Given the description of an element on the screen output the (x, y) to click on. 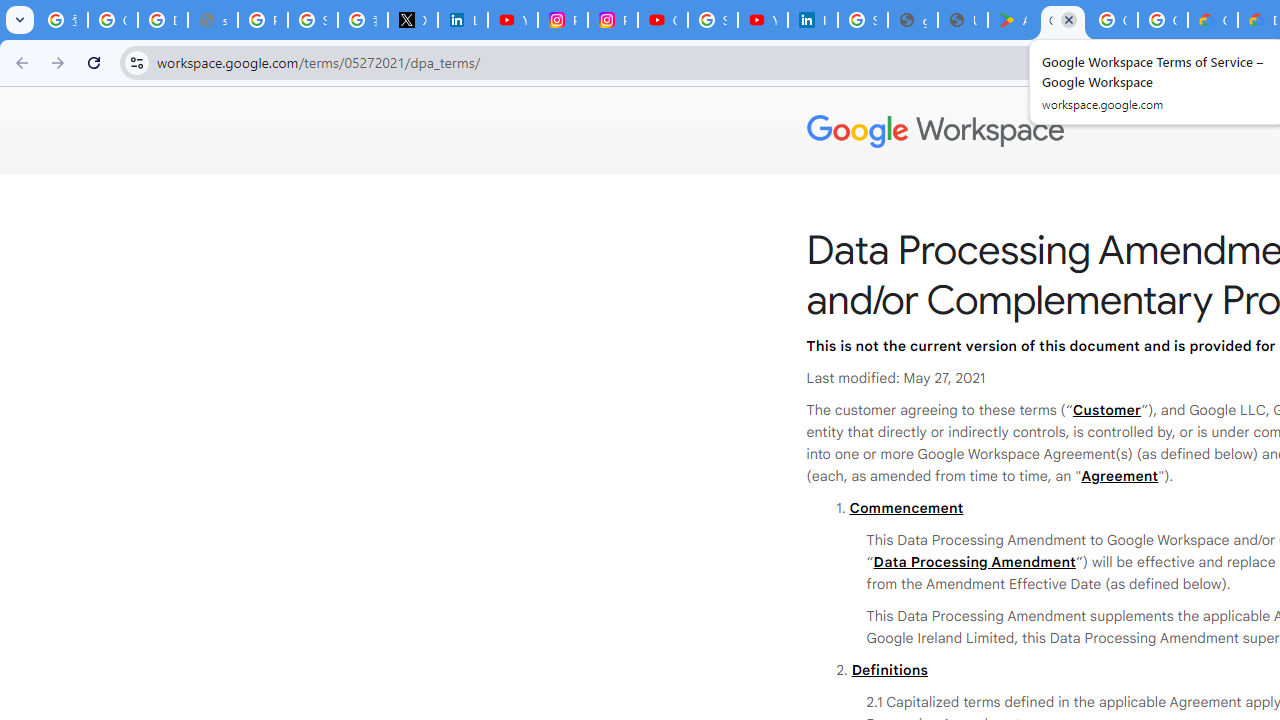
Android Apps on Google Play (1013, 20)
